Given the description of an element on the screen output the (x, y) to click on. 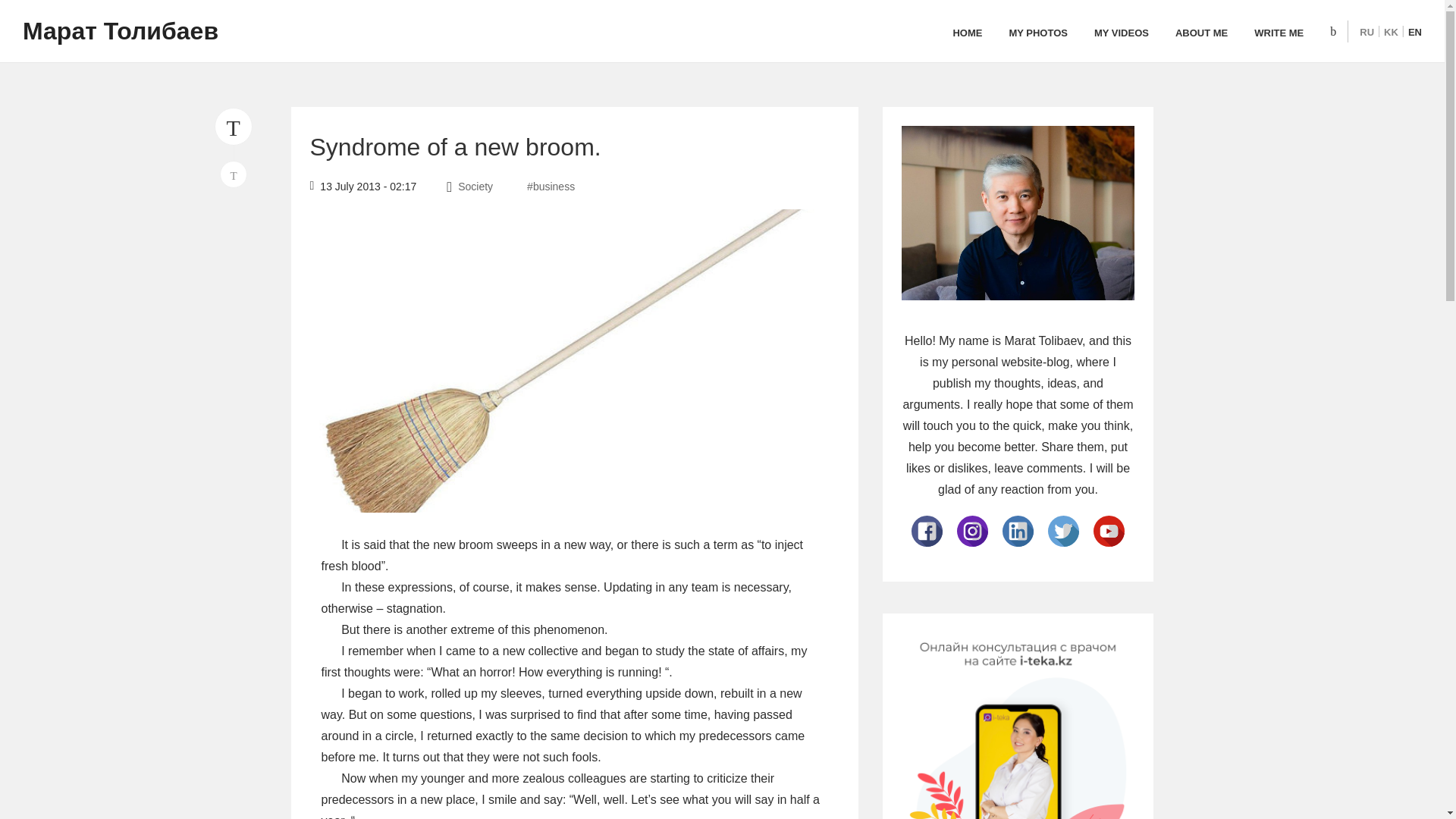
WRITE ME (1278, 33)
Society (477, 186)
ABOUT ME (1200, 33)
HOME (966, 33)
MY VIDEOS (1121, 33)
MY PHOTOS (1038, 33)
T (232, 126)
T (233, 174)
